Given the description of an element on the screen output the (x, y) to click on. 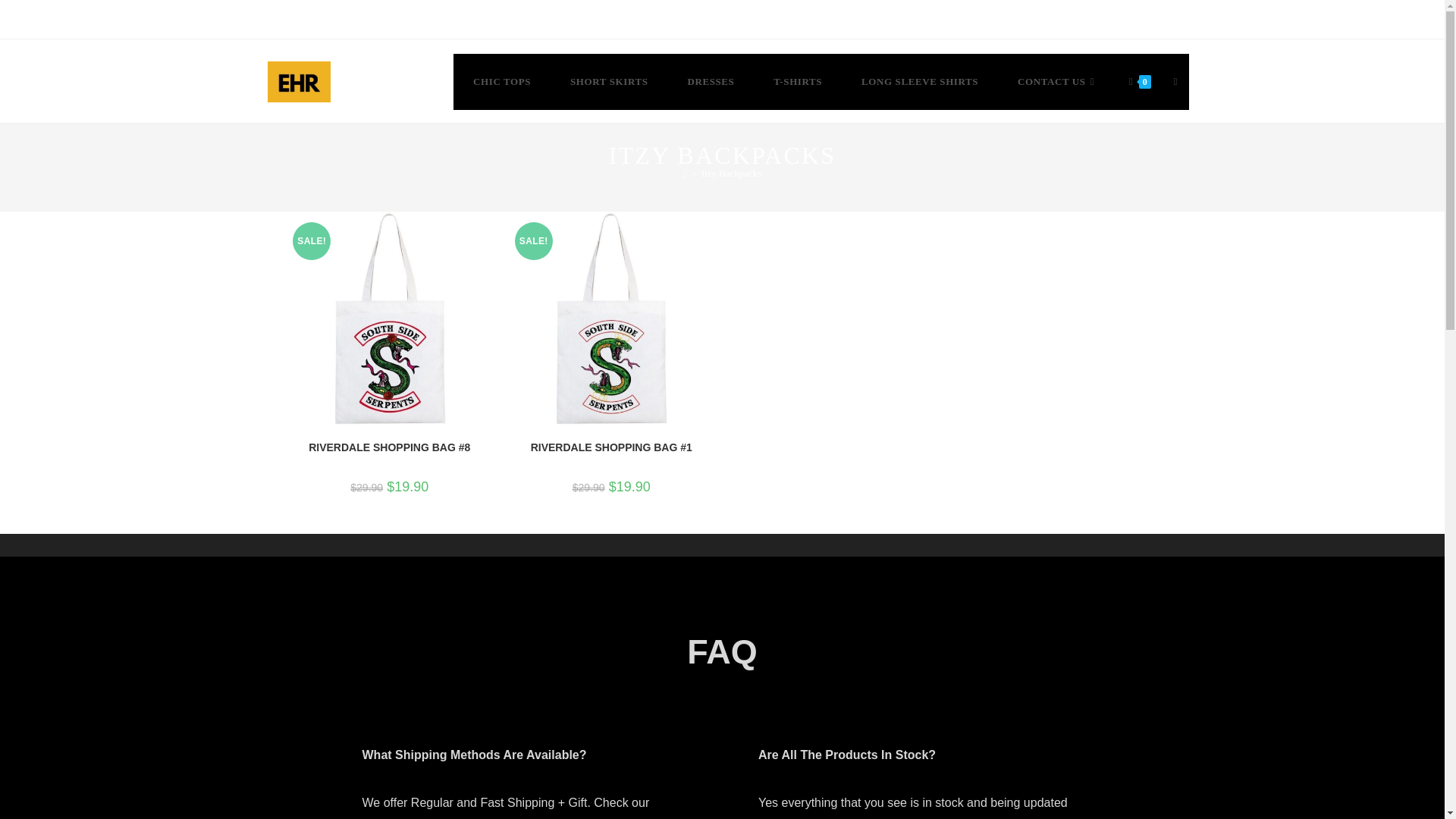
DRESSES (710, 81)
LONG SLEEVE SHIRTS (919, 81)
CONTACT US (1057, 81)
SHORT SKIRTS (608, 81)
0 (1139, 81)
T-SHIRTS (797, 81)
Itzy Backpacks (731, 173)
CHIC TOPS (501, 81)
